Given the description of an element on the screen output the (x, y) to click on. 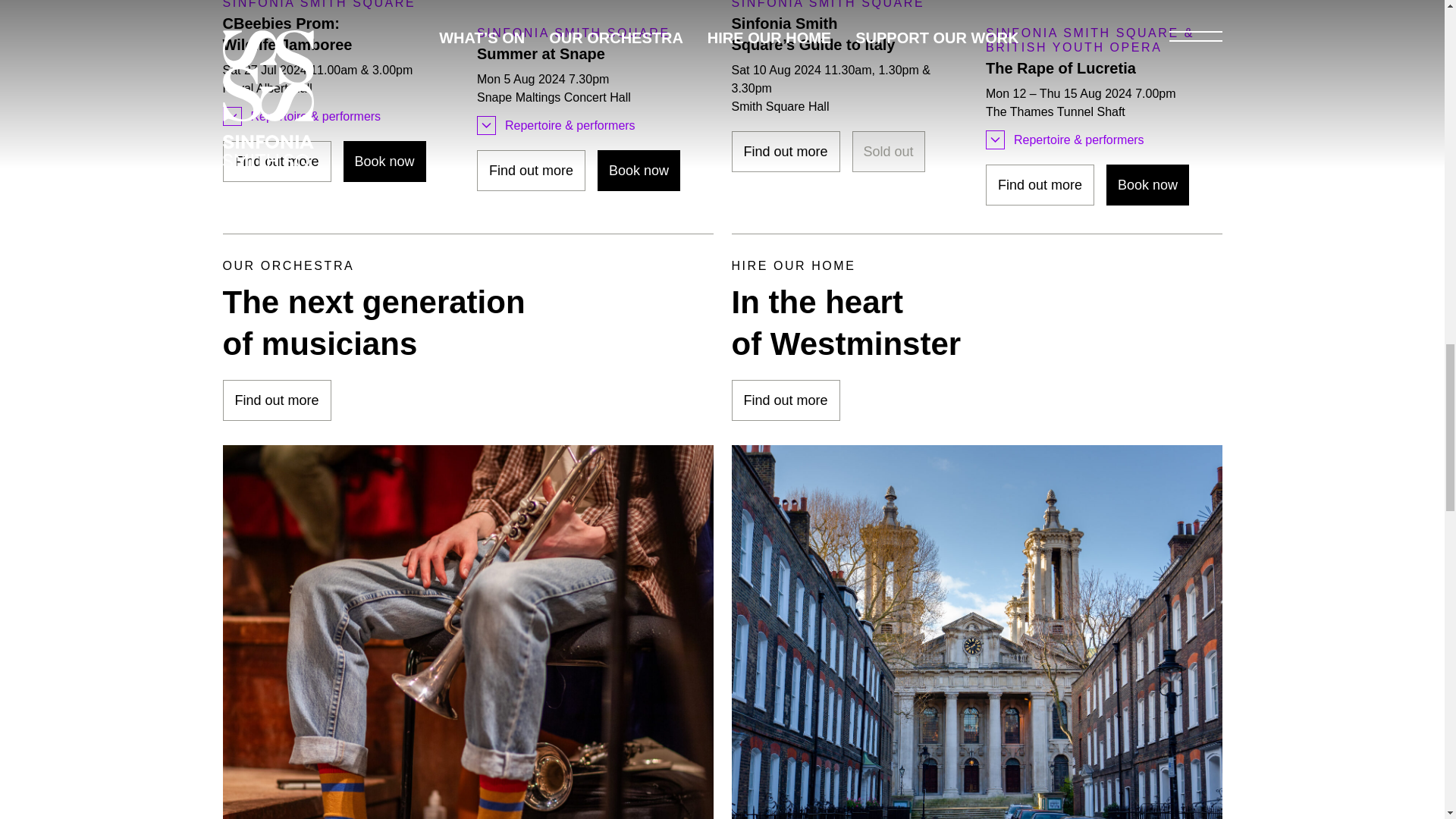
Book now (1147, 184)
Find out more (785, 151)
Book now (637, 169)
Find out more (531, 169)
Find out more (1039, 184)
Book now (384, 160)
Find out more (276, 160)
